Given the description of an element on the screen output the (x, y) to click on. 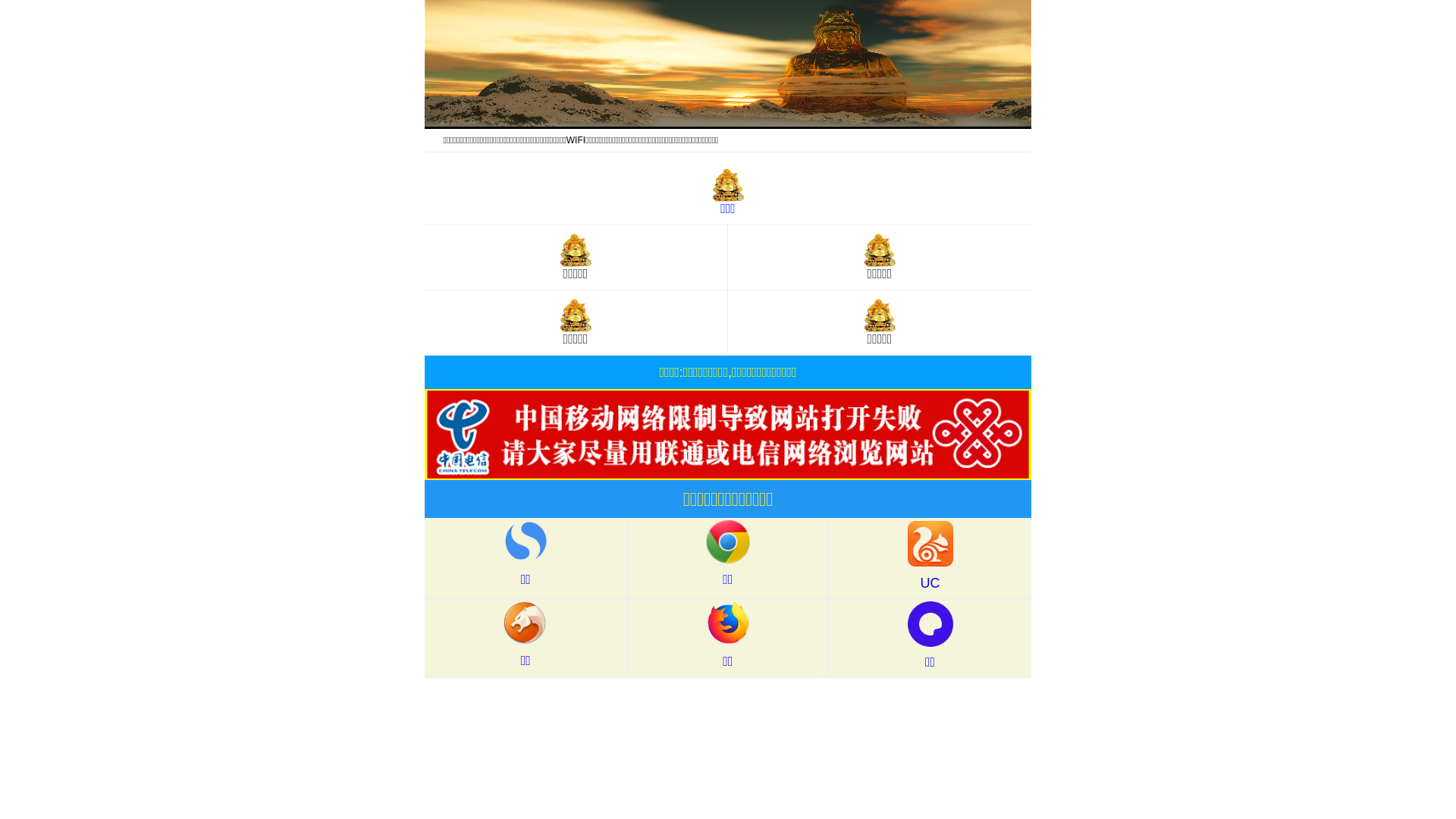
UC Element type: text (929, 558)
